Given the description of an element on the screen output the (x, y) to click on. 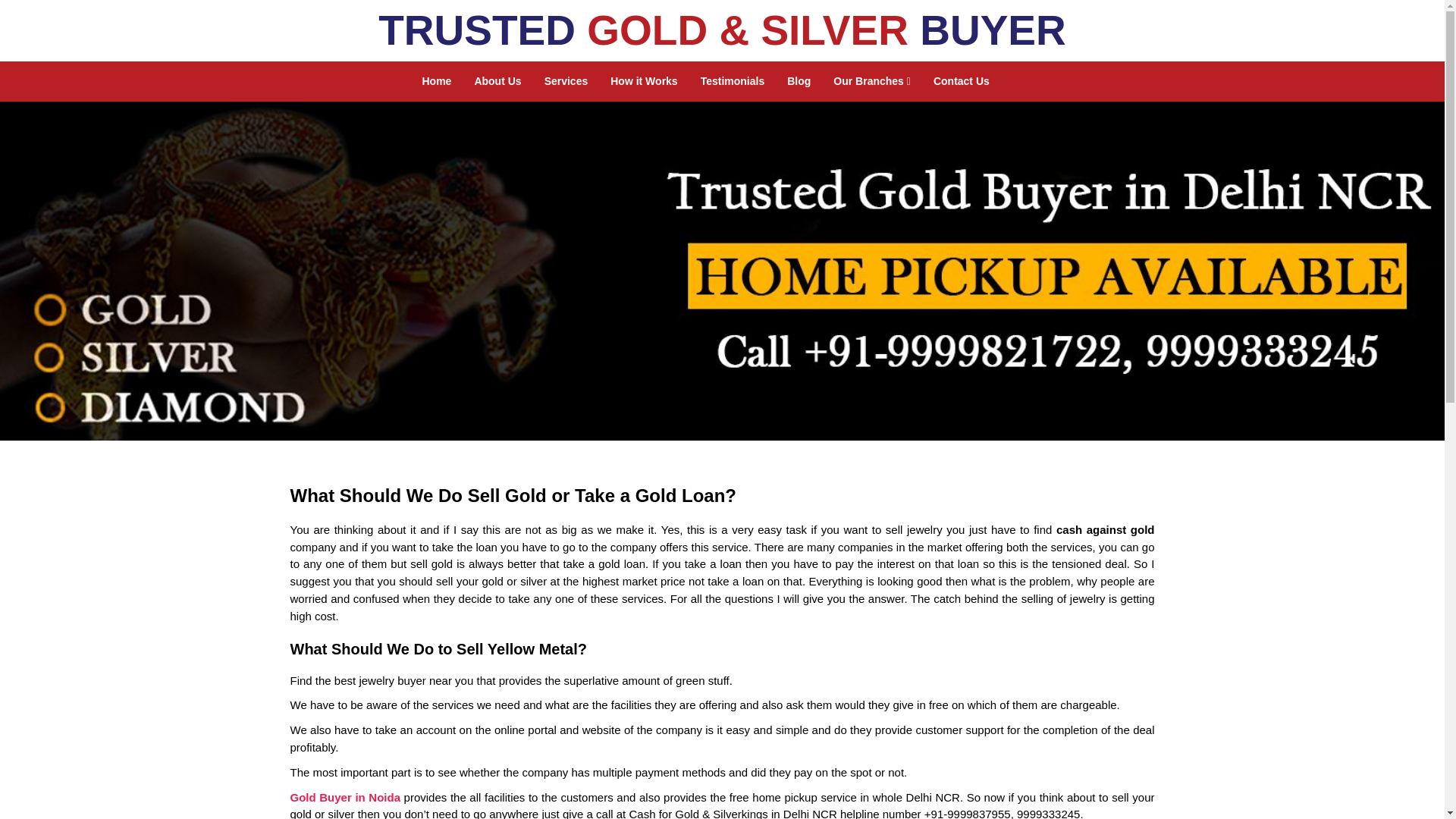
How it Works (643, 81)
Services (565, 81)
Home (436, 81)
Our Branches (871, 81)
Blog (799, 81)
About Us (497, 81)
Testimonials (732, 81)
